Given the description of an element on the screen output the (x, y) to click on. 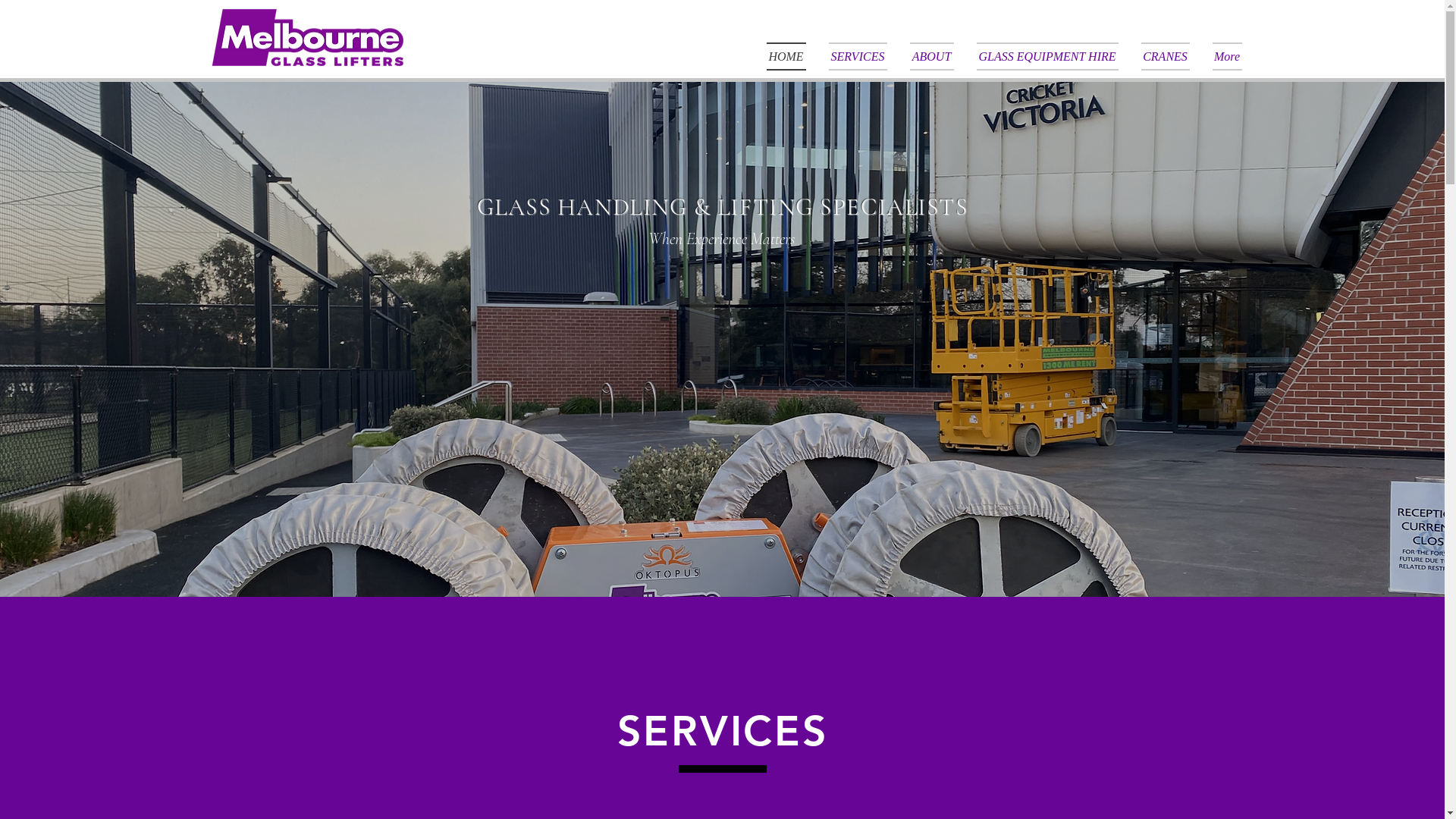
HOME Element type: text (790, 56)
ABOUT Element type: text (930, 56)
CRANES Element type: text (1165, 56)
GLASS EQUIPMENT HIRE Element type: text (1046, 56)
SERVICES Element type: text (857, 56)
